Given the description of an element on the screen output the (x, y) to click on. 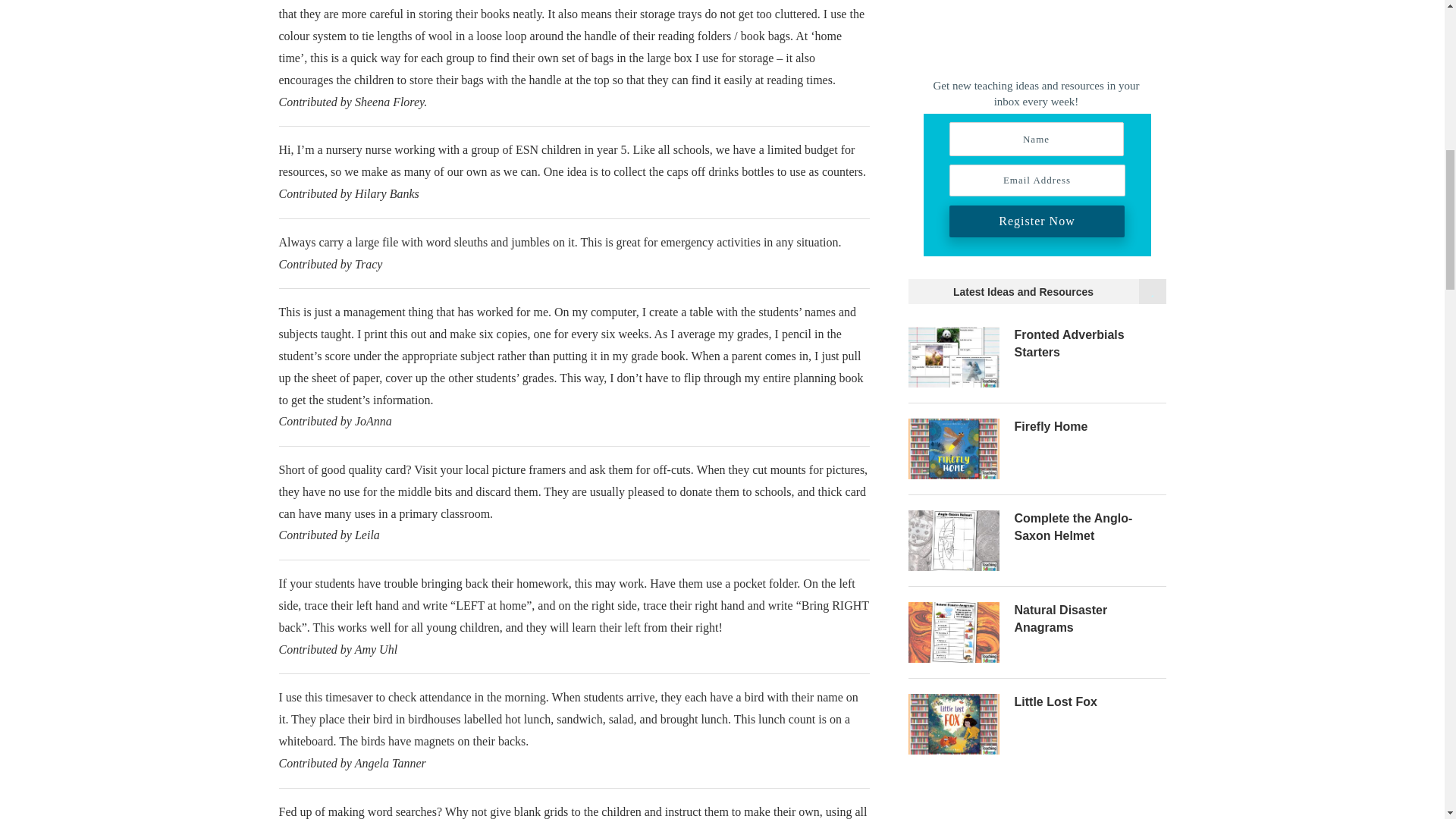
Complete the Anglo-Saxon Helmet (1090, 527)
Firefly Home (1090, 426)
Fronted Adverbials Starters (953, 356)
Complete the Anglo-Saxon Helmet (953, 540)
Fronted Adverbials Starters (1090, 343)
Firefly Home (953, 448)
